Given the description of an element on the screen output the (x, y) to click on. 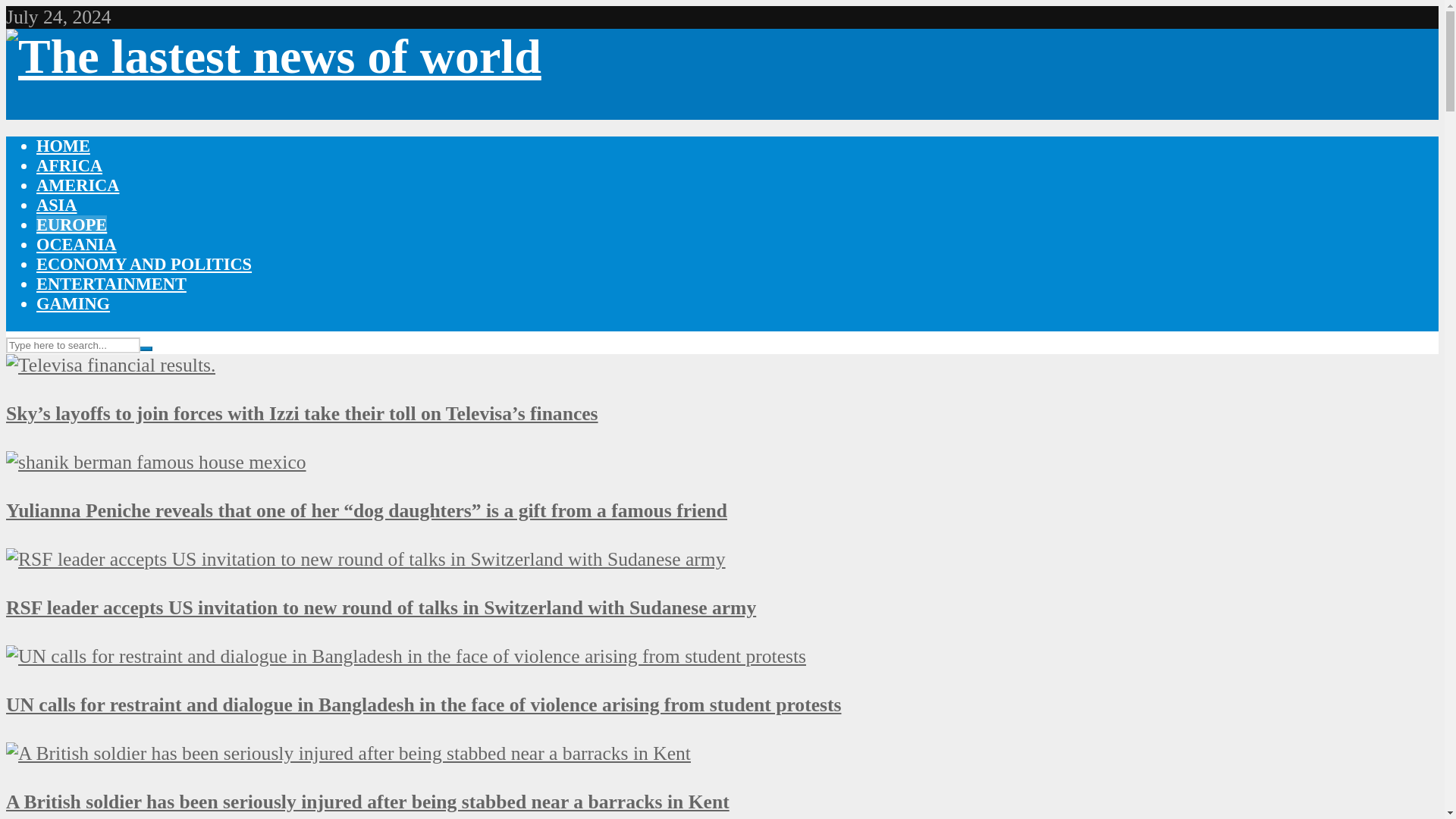
AMERICA (77, 185)
ASIA (56, 204)
GAMING (73, 303)
AFRICA (68, 165)
HOME (63, 145)
EUROPE (71, 224)
ENTERTAINMENT (111, 283)
OCEANIA (76, 244)
ECONOMY AND POLITICS (143, 263)
